Given the description of an element on the screen output the (x, y) to click on. 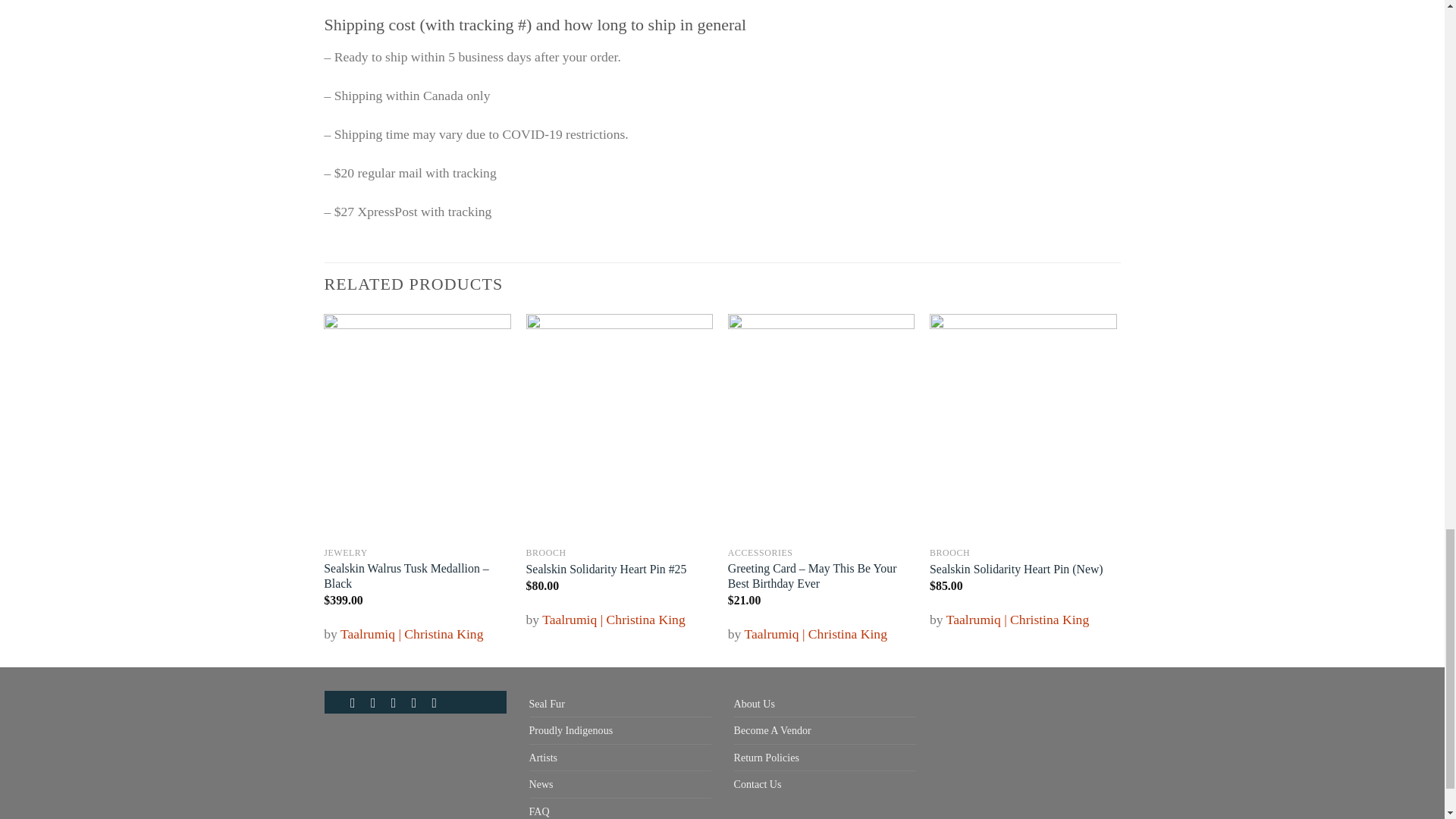
Follow on YouTube (438, 702)
Follow on Facebook (357, 702)
Follow on TikTok (397, 702)
Follow on Instagram (377, 702)
Follow on Twitter (418, 702)
